Given the description of an element on the screen output the (x, y) to click on. 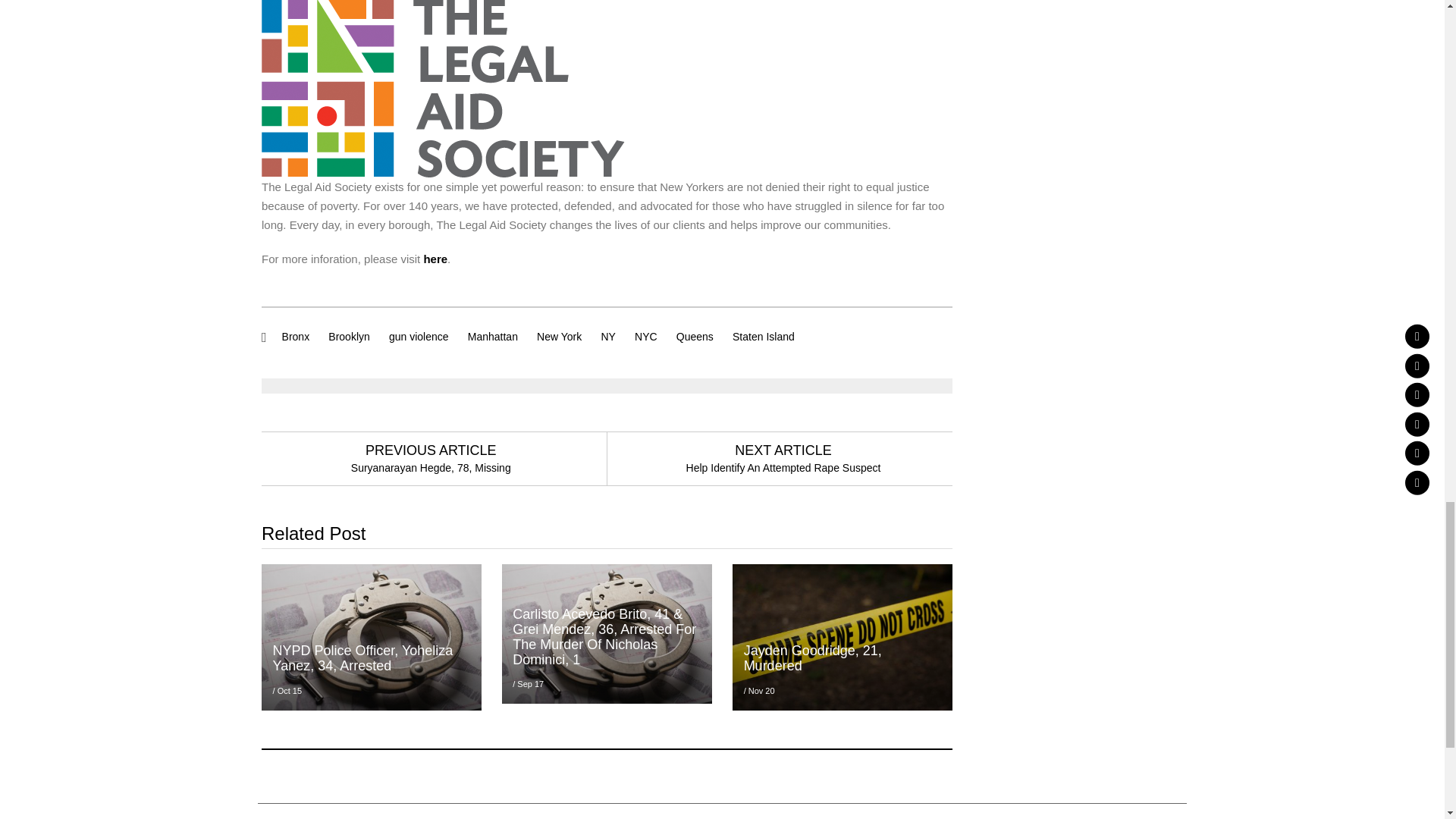
Bronx (296, 336)
here (434, 258)
Brooklyn (348, 336)
